Given the description of an element on the screen output the (x, y) to click on. 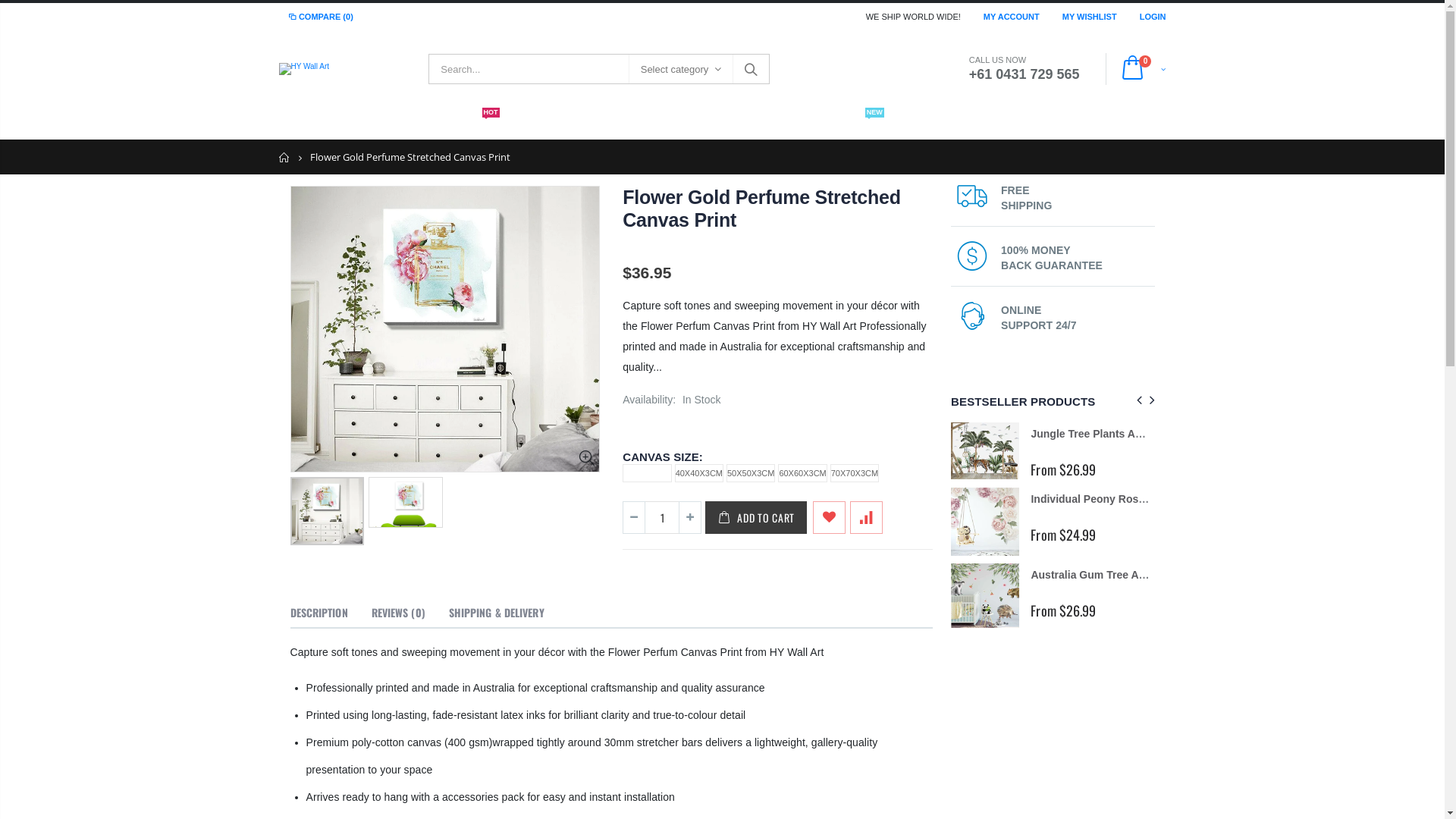
HOME Element type: text (307, 123)
Select category Element type: text (681, 69)
Search Element type: text (750, 68)
LOGIN Element type: text (1152, 15)
Hot Air Balloon Aircraft Wall Sticker Element type: text (909, 510)
0 Element type: text (1139, 69)
WALL MURAL Element type: text (746, 123)
Flower Gold Perfume Stretched Canvas Print Element type: text (761, 208)
Monster Trucks Collection Wall Stickers Element type: text (1131, 433)
Home Element type: text (284, 157)
WALL DECAL Element type: text (555, 123)
DESCRIPTION Element type: text (318, 613)
CONTACT US Element type: text (938, 123)
FEATURED Element type: text (375, 123)
COMPARE (0) Element type: text (320, 16)
REVIEWS (0) Element type: text (398, 613)
Add to wishlist Element type: hover (828, 517)
WALL PAPER
HOT Element type: text (462, 123)
WINDOW FILM
NEW Element type: text (844, 123)
Add to compare Element type: hover (866, 517)
CANVAS ART Element type: text (651, 123)
MY WISHLIST Element type: text (1089, 15)
Birds On Wire Wall Sticker Vinyl Decal Element type: text (1126, 577)
SHIPPING & DELIVERY Element type: text (496, 613)
ADD TO CART Element type: text (755, 517)
Rose Peach Flower Nursery Wall Sticker Element type: text (1131, 512)
MY ACCOUNT Element type: text (1011, 15)
ABOUT US Element type: text (1024, 123)
